Given the description of an element on the screen output the (x, y) to click on. 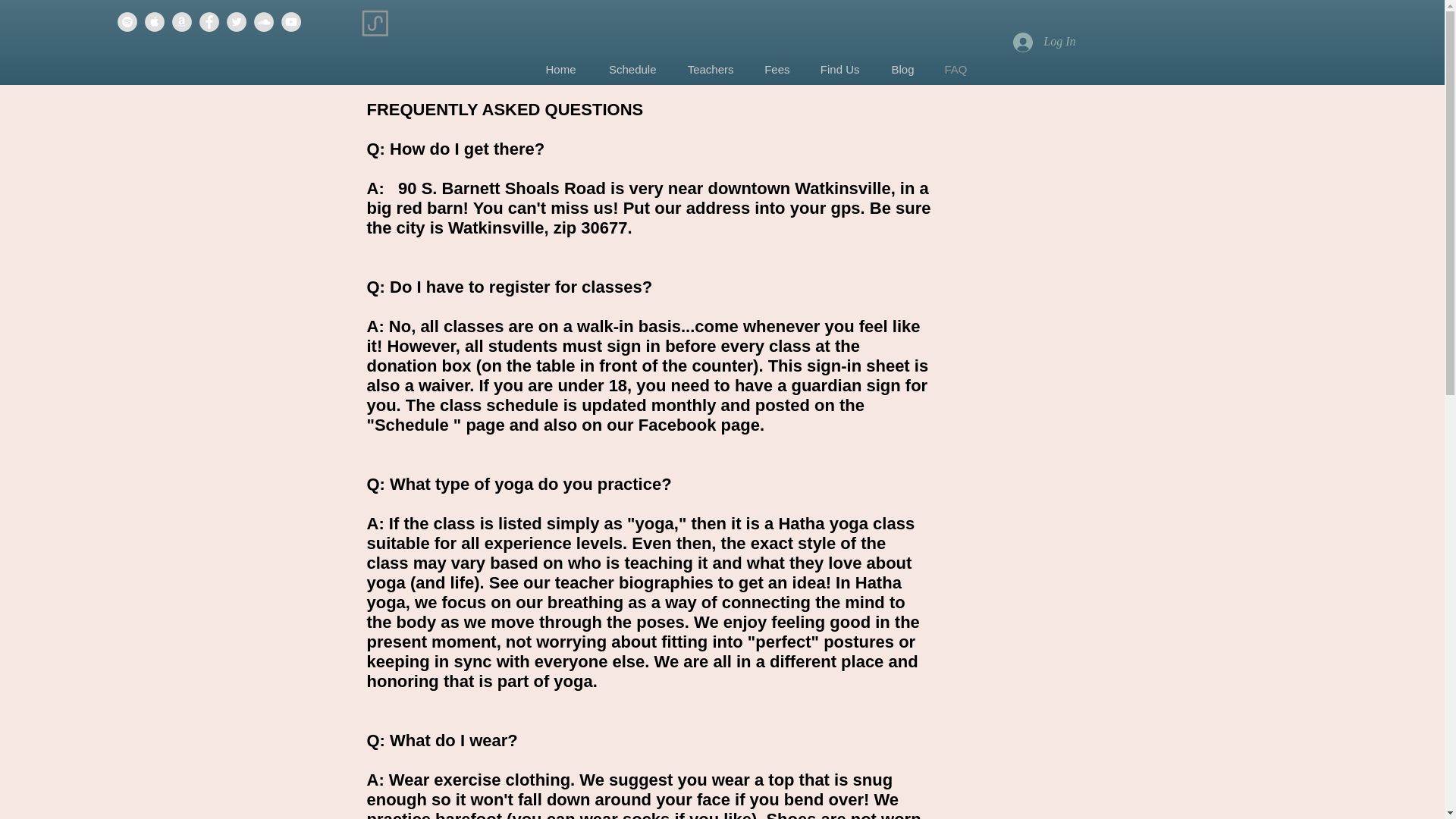
our Facebook page (683, 424)
Teachers (710, 69)
Find Us (840, 69)
Log In (1044, 41)
Schedule (631, 69)
teacher biographies (633, 582)
